Given the description of an element on the screen output the (x, y) to click on. 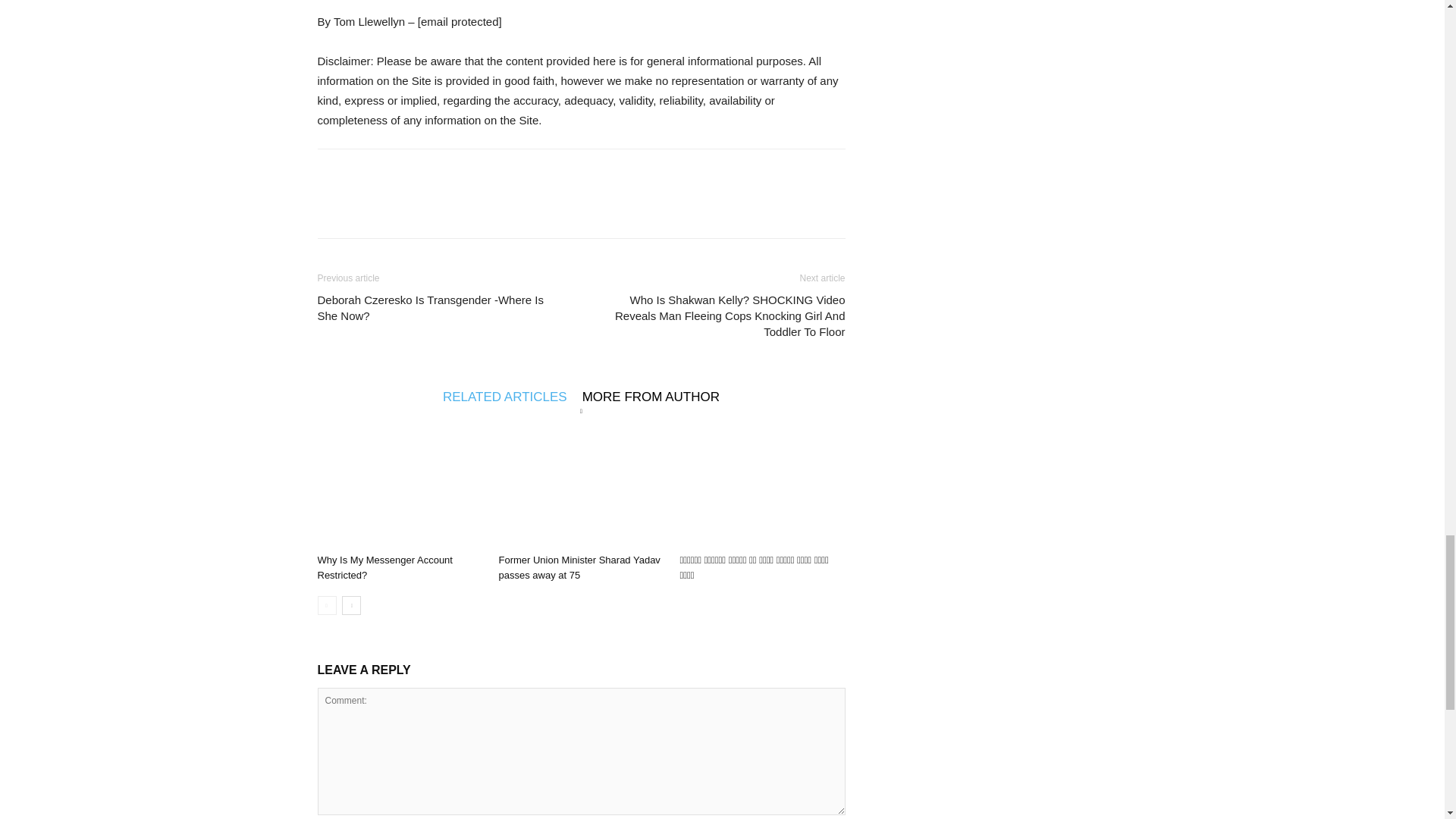
Why Is My Messenger Account Restricted? (384, 567)
Why Is My Messenger Account Restricted? (399, 490)
